Given the description of an element on the screen output the (x, y) to click on. 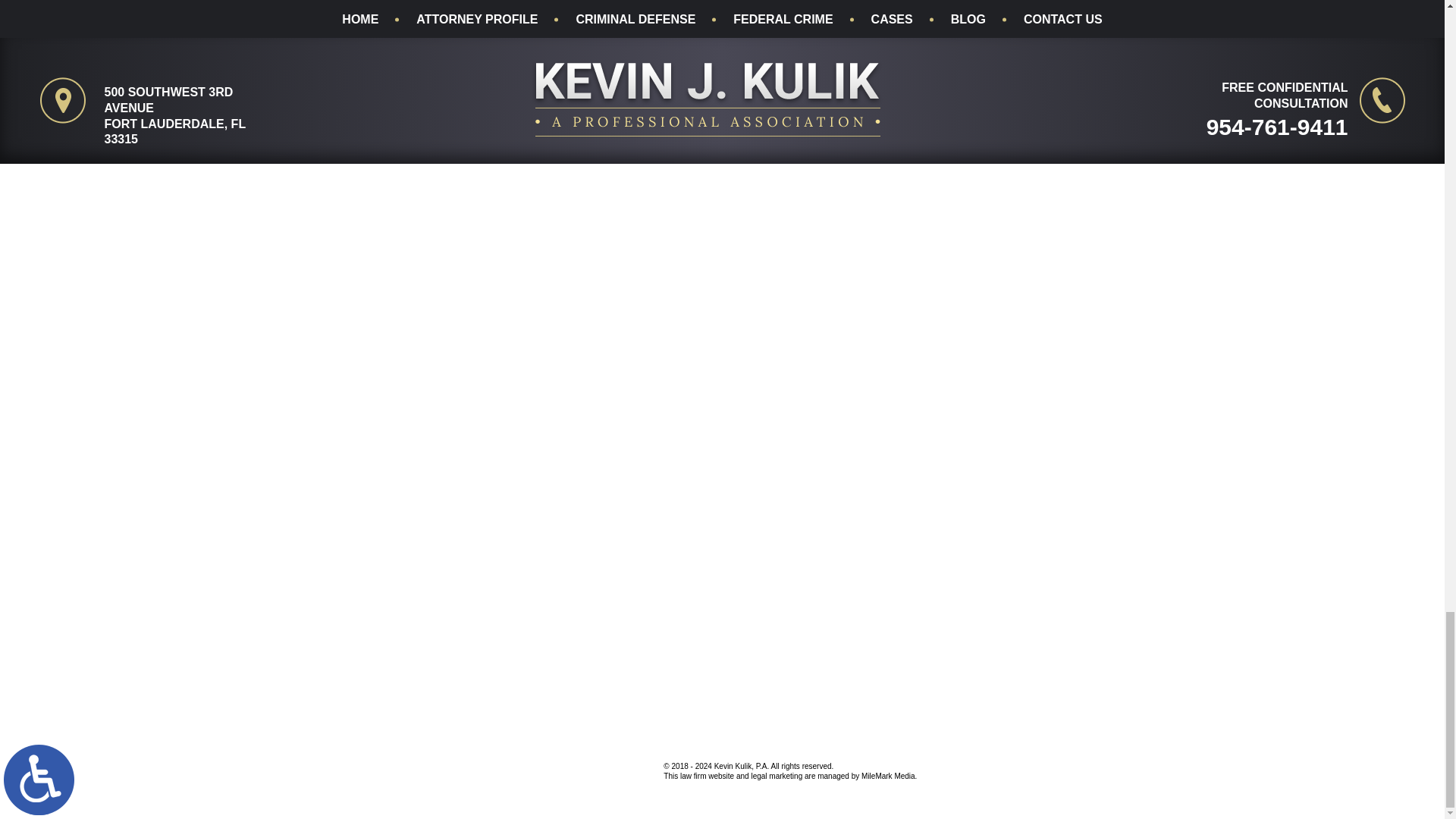
MileMark Media (590, 765)
